Given the description of an element on the screen output the (x, y) to click on. 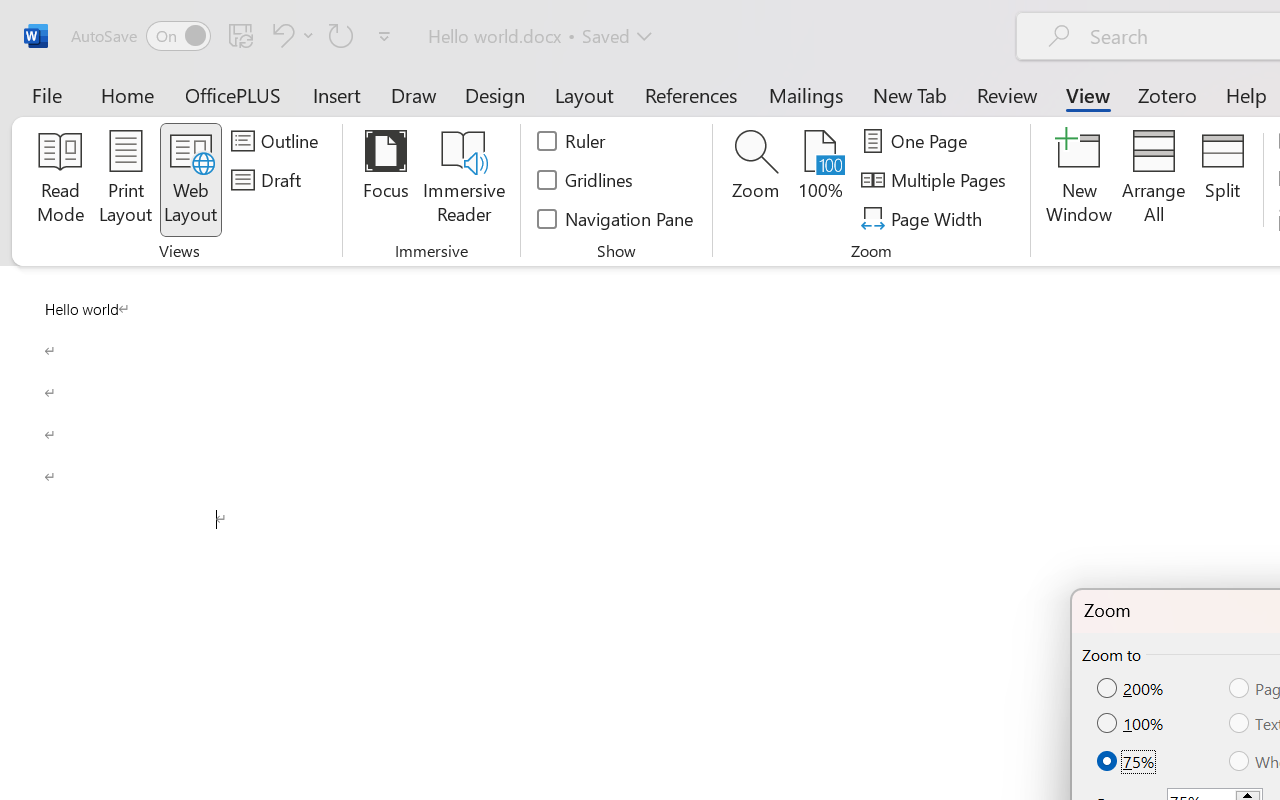
Layout (584, 94)
Print Layout (125, 179)
Multiple Pages (936, 179)
Web Layout (190, 179)
Insert (337, 94)
Page Width (924, 218)
Outline (278, 141)
Navigation Pane (616, 218)
100% (1131, 723)
Home (127, 94)
New Tab (909, 94)
Undo Paragraph Formatting (290, 35)
Zoom... (755, 179)
Focus (385, 179)
